Given the description of an element on the screen output the (x, y) to click on. 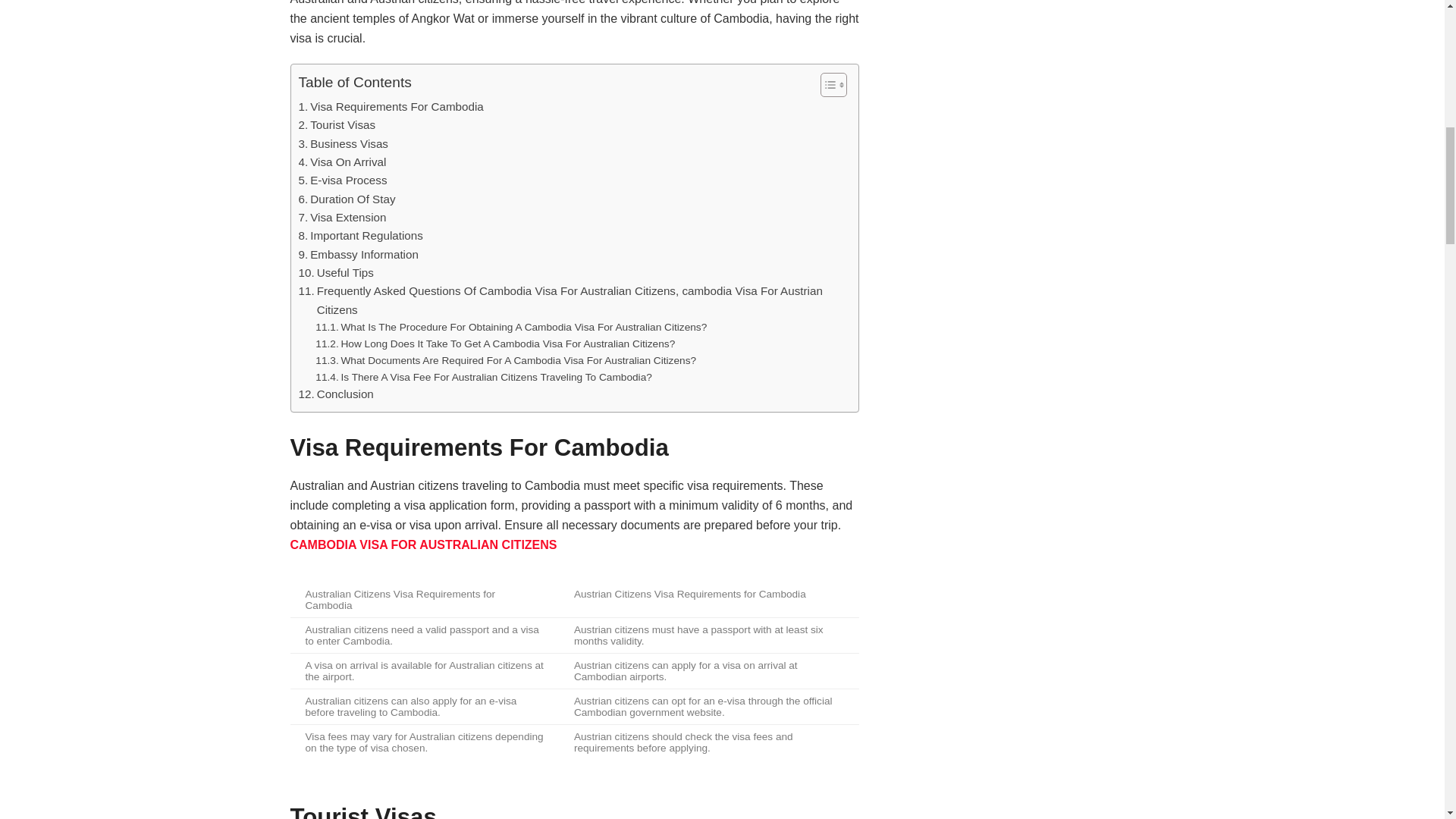
Visa Extension (342, 217)
Duration Of Stay (347, 199)
Visa Requirements For Cambodia (390, 106)
Visa On Arrival (342, 162)
Visa Requirements For Cambodia (390, 106)
Business Visas (343, 144)
Important Regulations (360, 235)
Tourist Visas (336, 125)
Useful Tips (336, 272)
Embassy Information (358, 254)
